Given the description of an element on the screen output the (x, y) to click on. 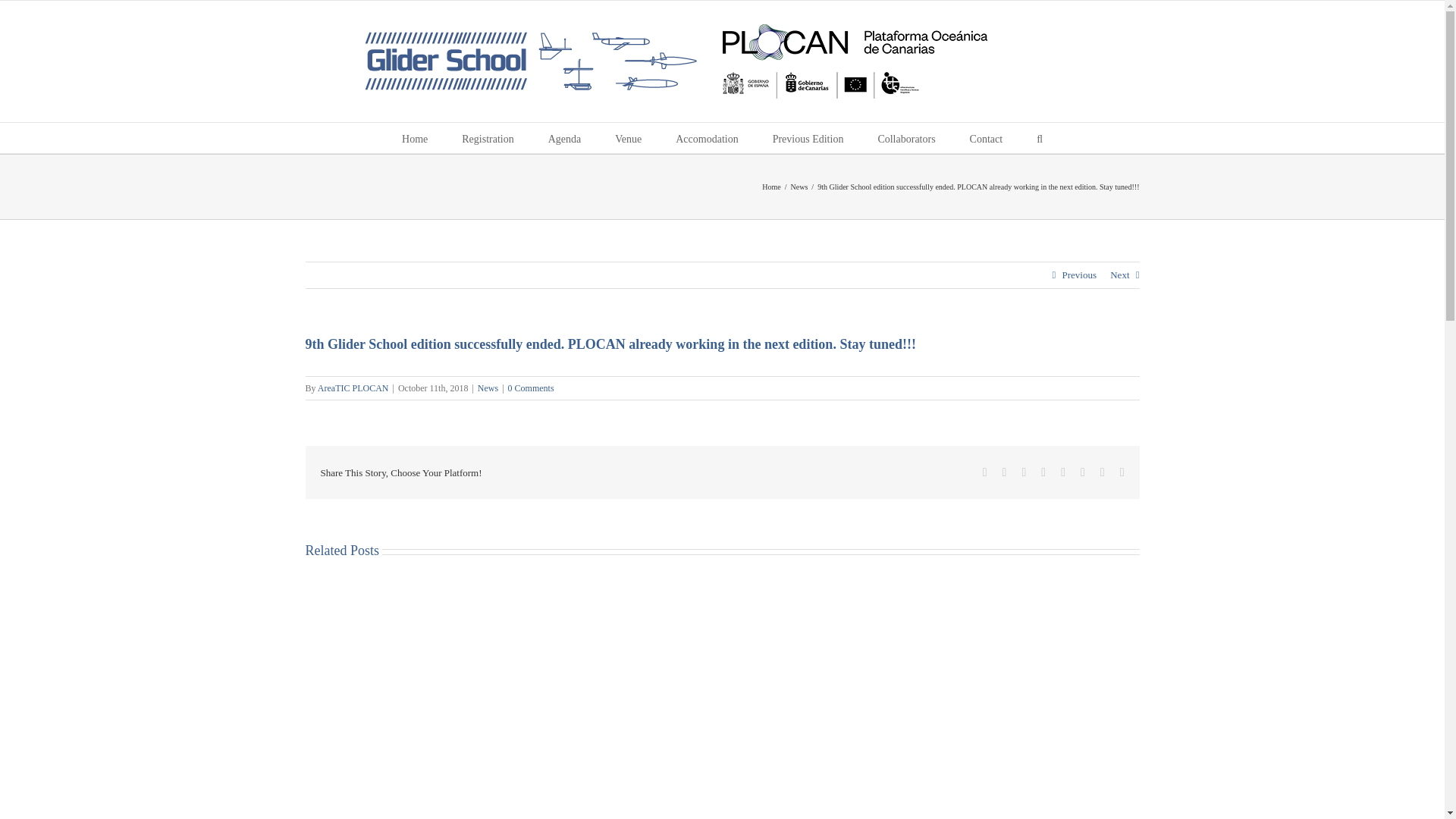
Collaborators (905, 137)
AreaTIC PLOCAN (352, 388)
Home (770, 186)
0 Comments (531, 388)
Previous Edition (808, 137)
Accomodation (706, 137)
Posts by AreaTIC PLOCAN (352, 388)
News (799, 186)
Contact (986, 137)
Agenda (564, 137)
News (487, 388)
Registration (487, 137)
Previous (1078, 275)
